Given the description of an element on the screen output the (x, y) to click on. 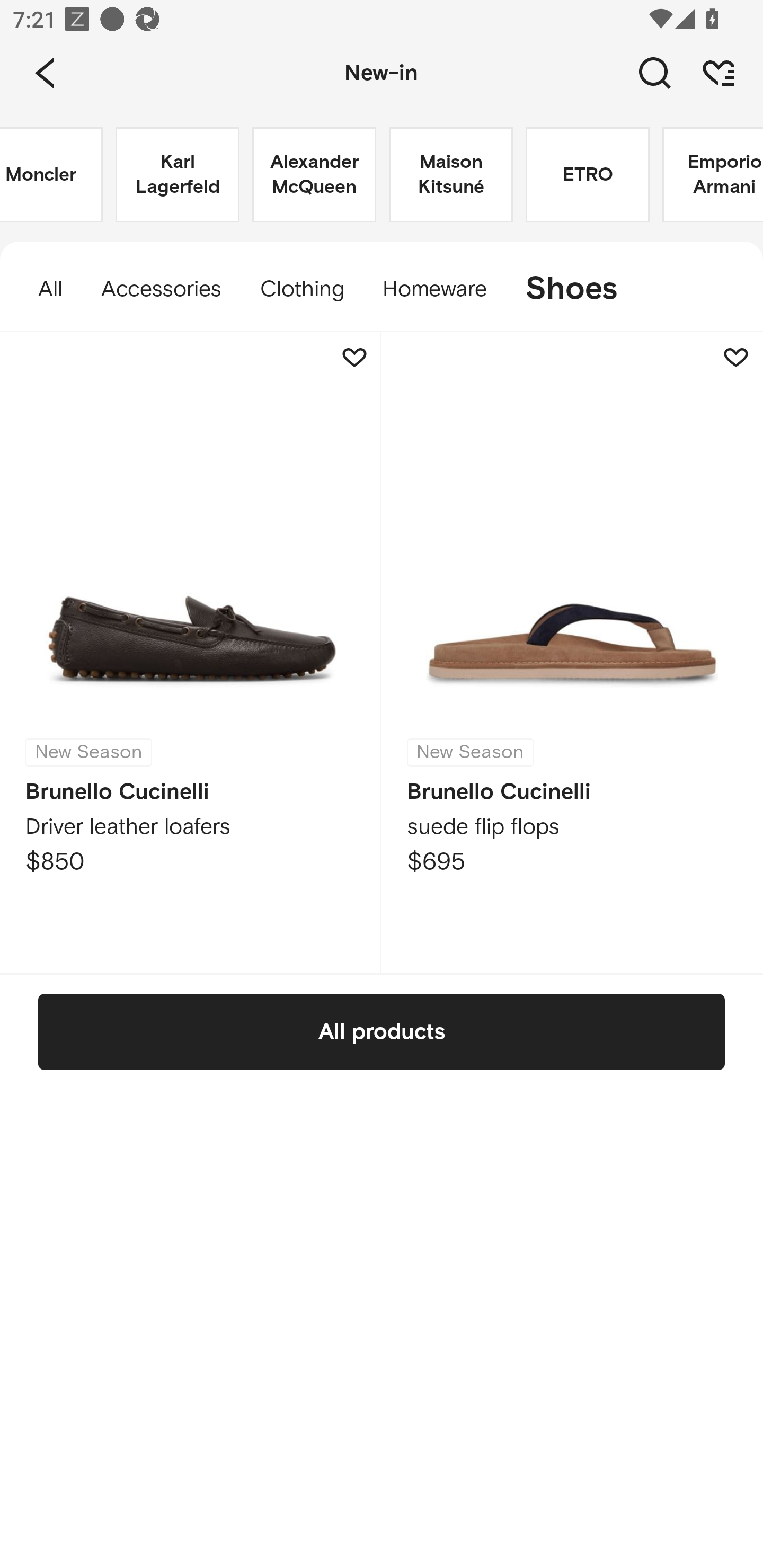
Moncler (51, 174)
Karl Lagerfeld (177, 174)
Alexander McQueen (314, 174)
Maison Kitsuné (450, 174)
ETRO (587, 174)
Emporio Armani (712, 174)
All (40, 288)
Accessories (160, 288)
Clothing (301, 288)
Homeware (434, 288)
Shoes (580, 288)
All products (381, 1031)
